Given the description of an element on the screen output the (x, y) to click on. 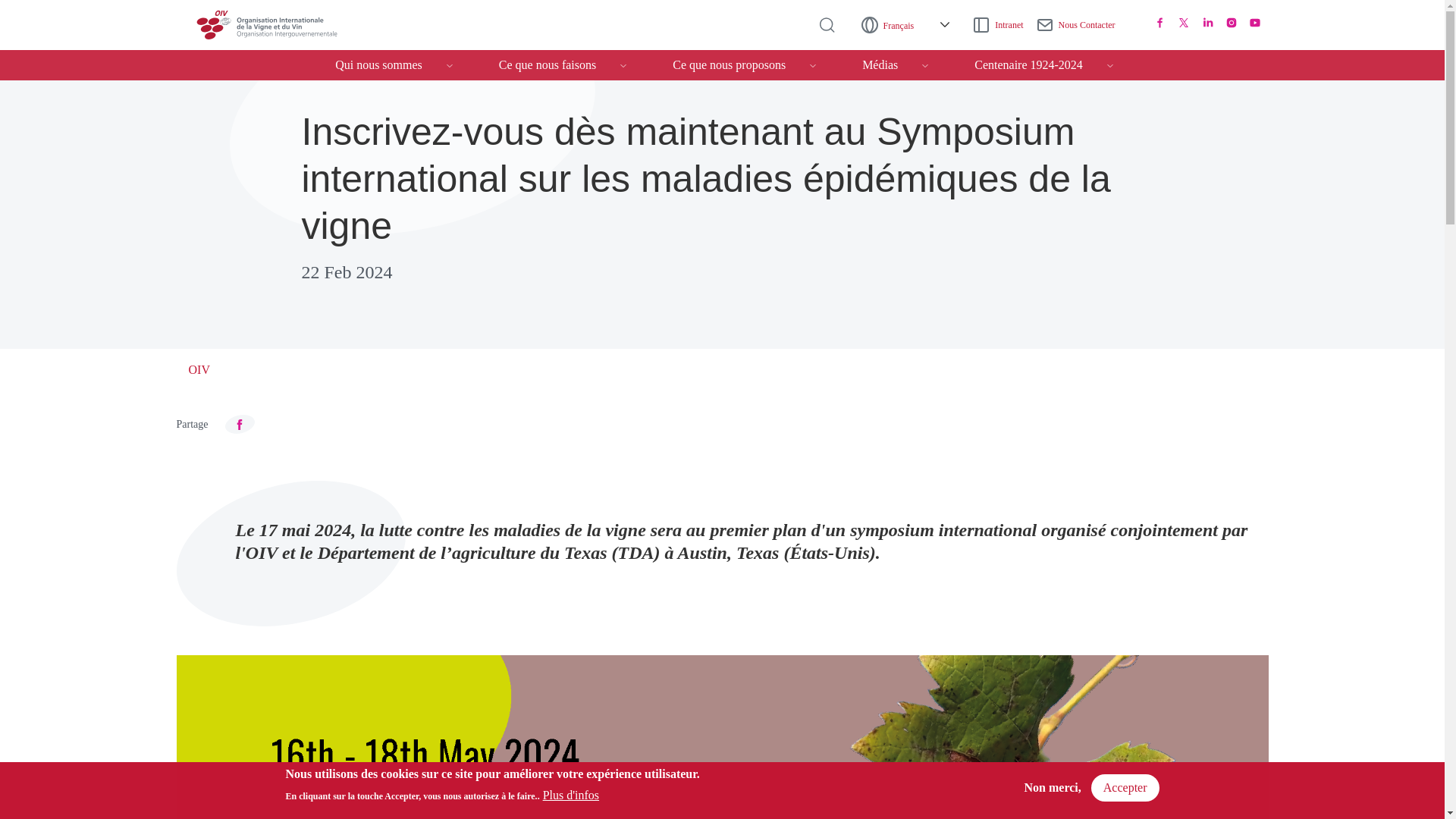
Qui nous sommes (393, 64)
Intranet (1003, 25)
Ce que nous faisons (562, 64)
Accueil (288, 24)
Ce que nous proposons (744, 64)
Share to Facebook (239, 424)
Nous Contacter (1080, 25)
Instagram (1231, 22)
OIV (288, 24)
Facebook (1160, 22)
